Given the description of an element on the screen output the (x, y) to click on. 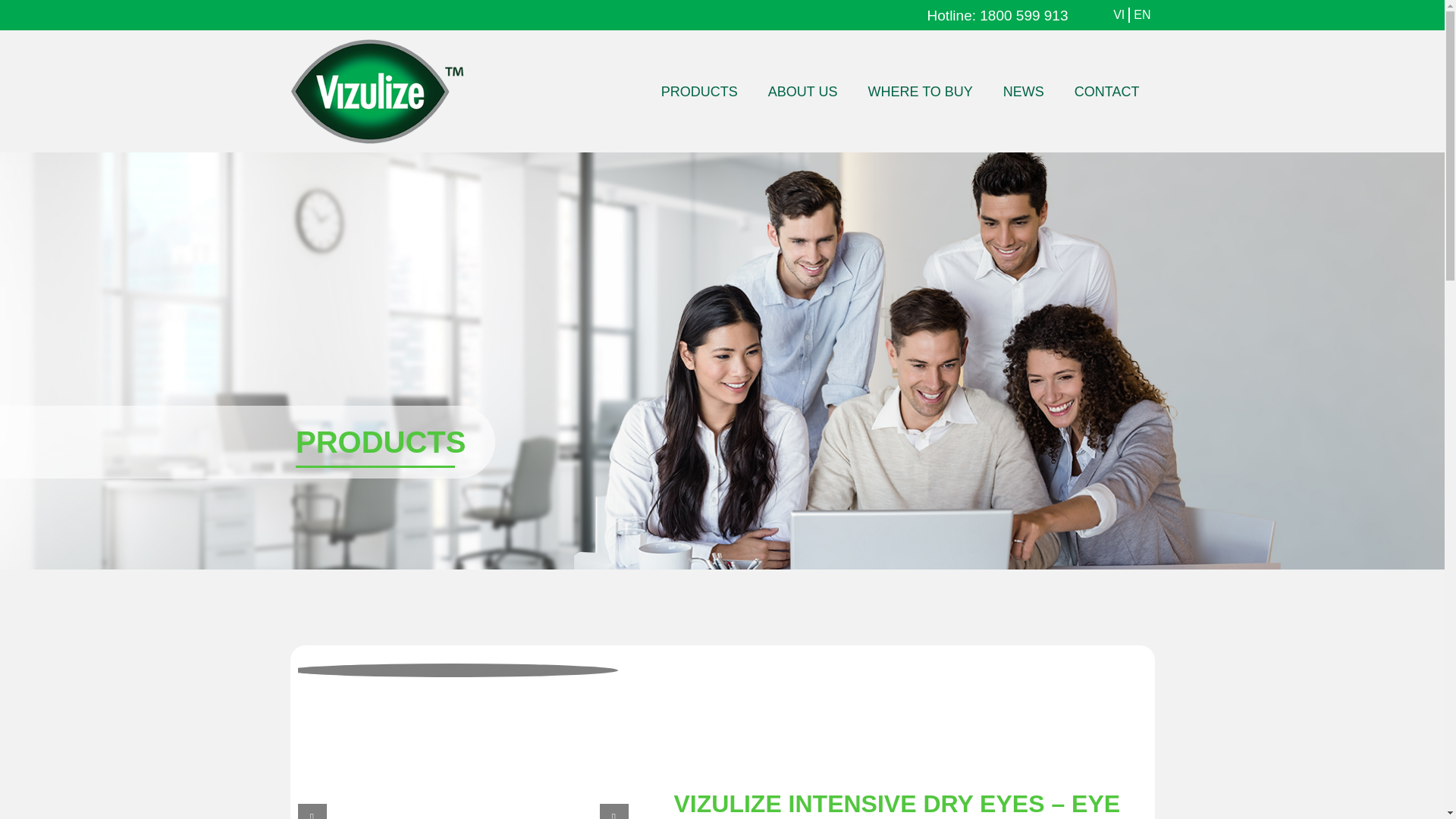
Hotline: 1800 599 913 (997, 15)
WHERE TO BUY (919, 91)
CONTACT (1106, 91)
ABOUT US (802, 91)
VI (1118, 14)
EN (1141, 14)
NEWS (1023, 91)
PRODUCTS (699, 91)
